Given the description of an element on the screen output the (x, y) to click on. 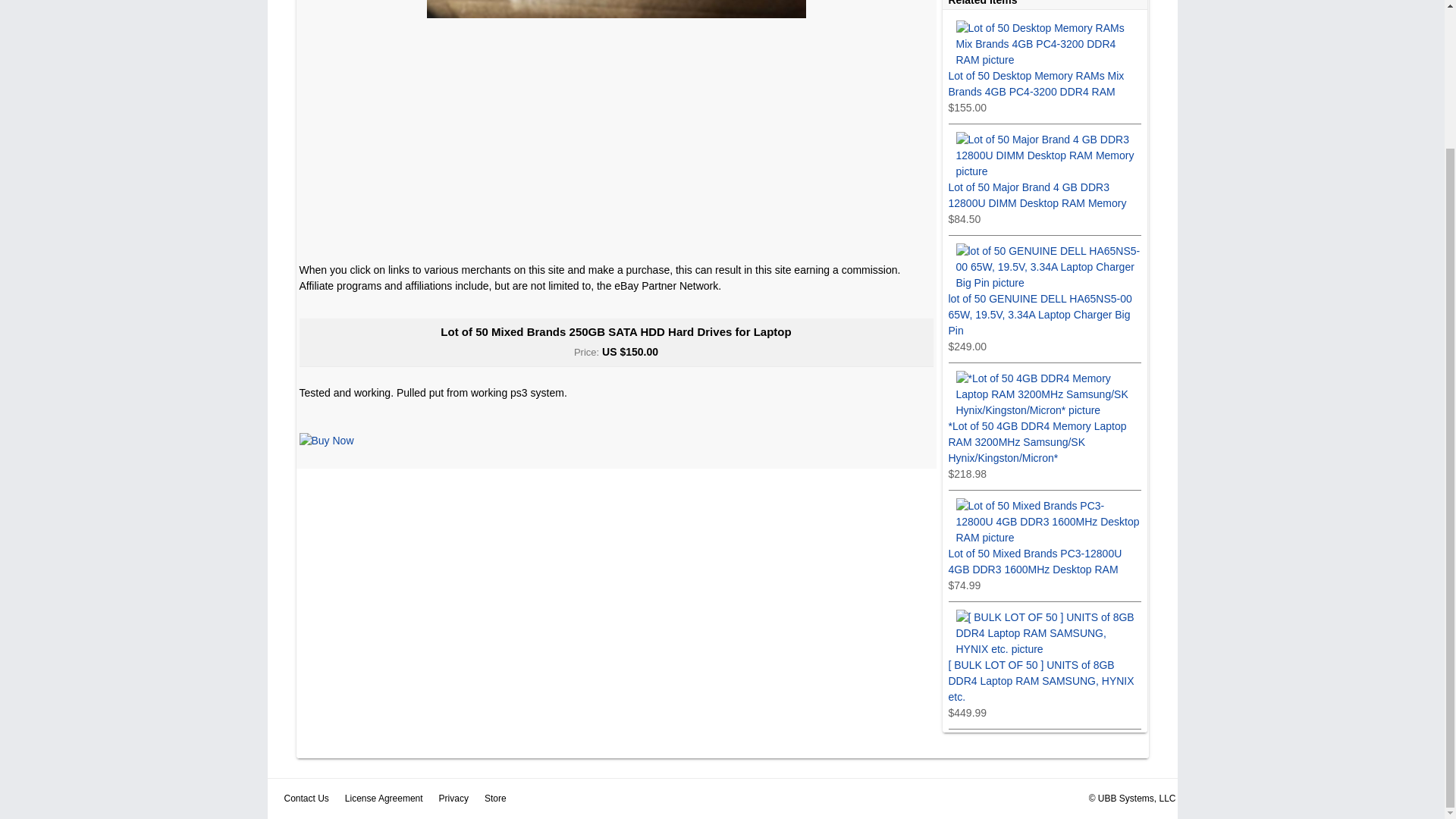
Contact Us (306, 798)
Store (495, 798)
License Agreement (384, 798)
